Given the description of an element on the screen output the (x, y) to click on. 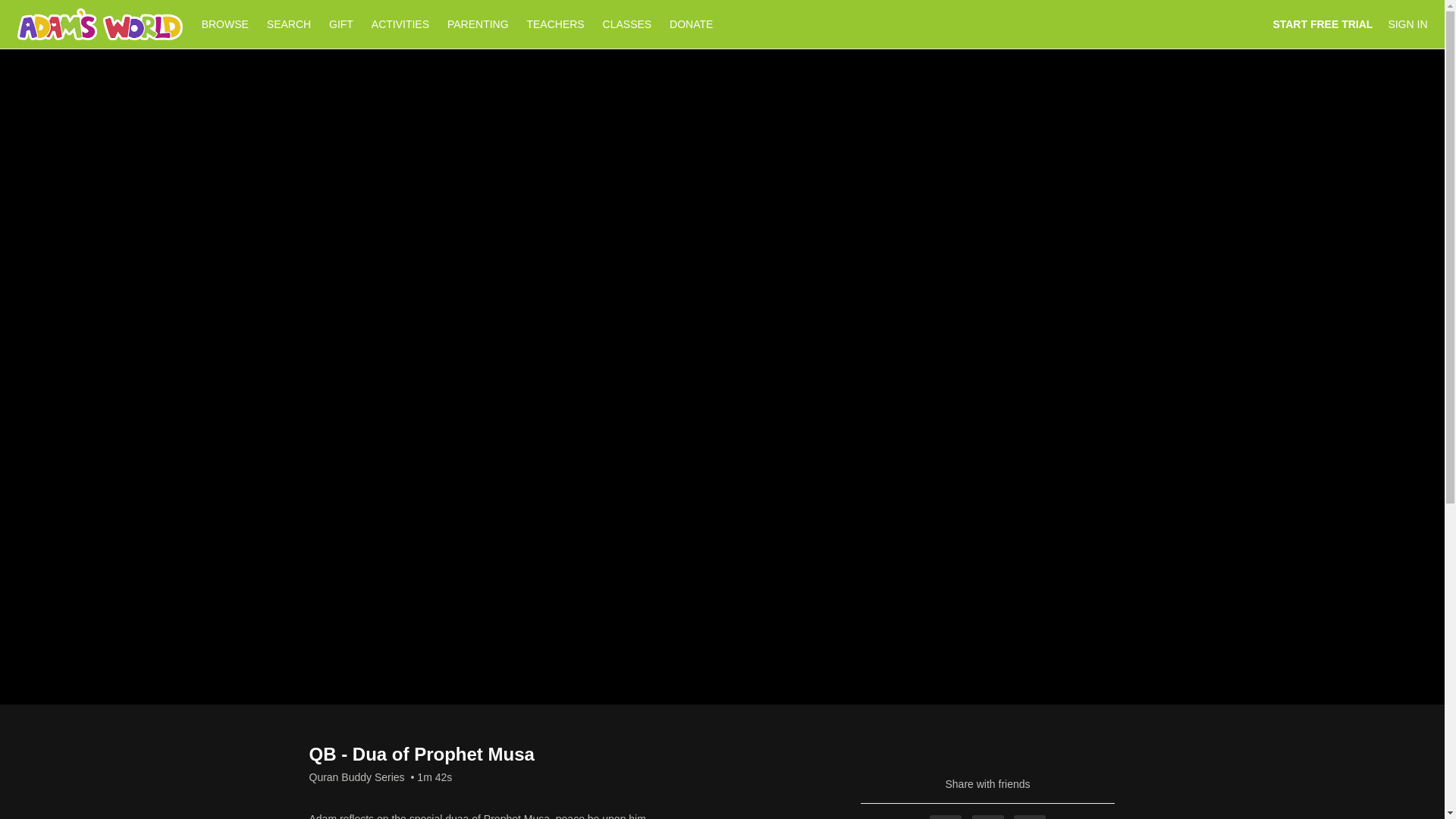
SIGN IN (1406, 24)
Skip to main content (48, 7)
Facebook (945, 816)
BROWSE (226, 24)
DONATE (691, 24)
ACTIVITIES (400, 24)
CLASSES (627, 24)
SEARCH (290, 24)
TEACHERS (554, 24)
PARENTING (477, 24)
Email (1029, 816)
GIFT (341, 24)
Quran Buddy Series (356, 776)
START FREE TRIAL (1322, 24)
Twitter (988, 816)
